Given the description of an element on the screen output the (x, y) to click on. 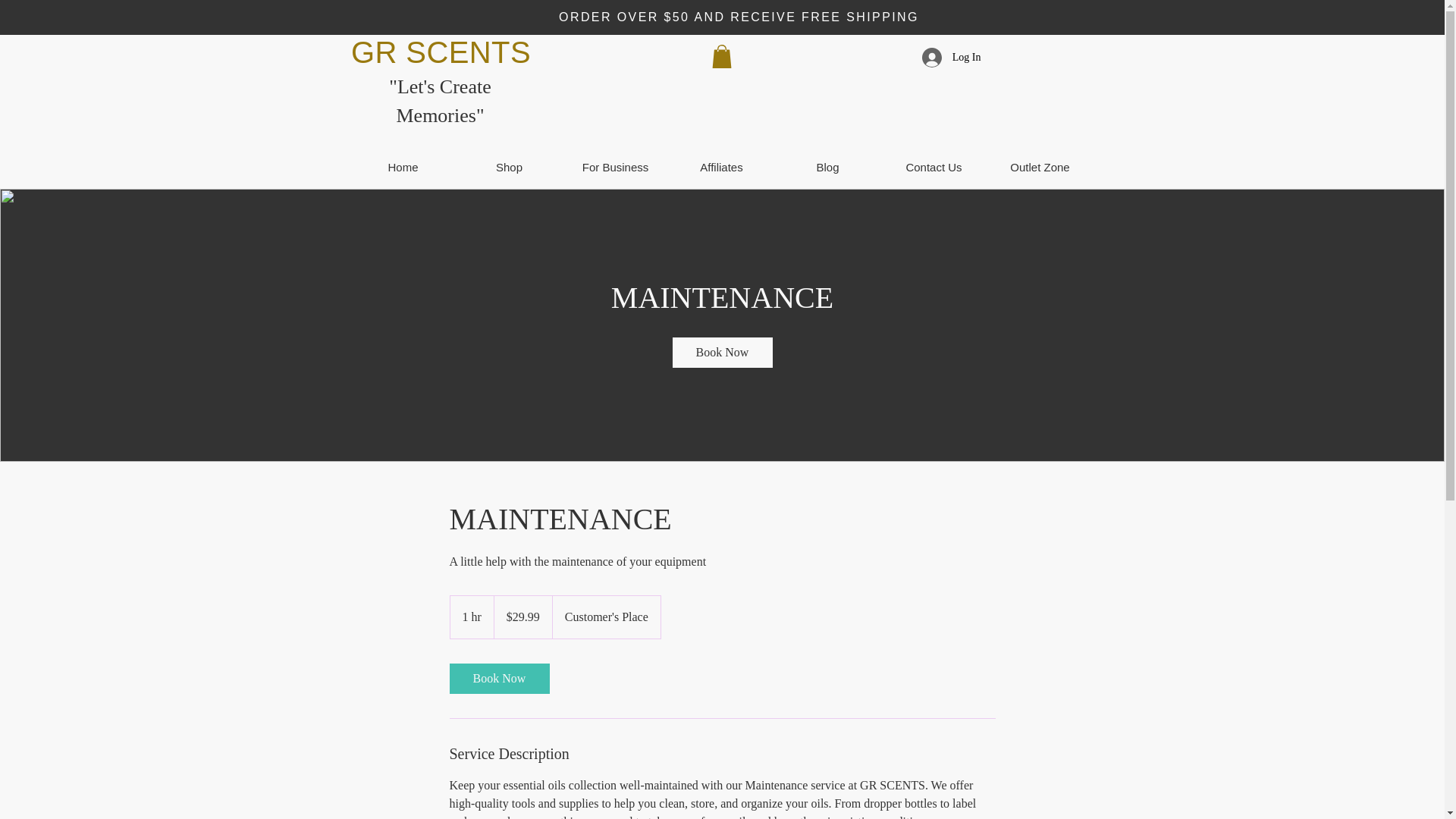
Outlet Zone (1040, 167)
Blog (827, 167)
Contact Us (933, 167)
Home (403, 167)
Book Now (498, 678)
Shop (509, 167)
Log In (951, 57)
For Business (615, 167)
Book Now (721, 352)
Affiliates (721, 167)
